Given the description of an element on the screen output the (x, y) to click on. 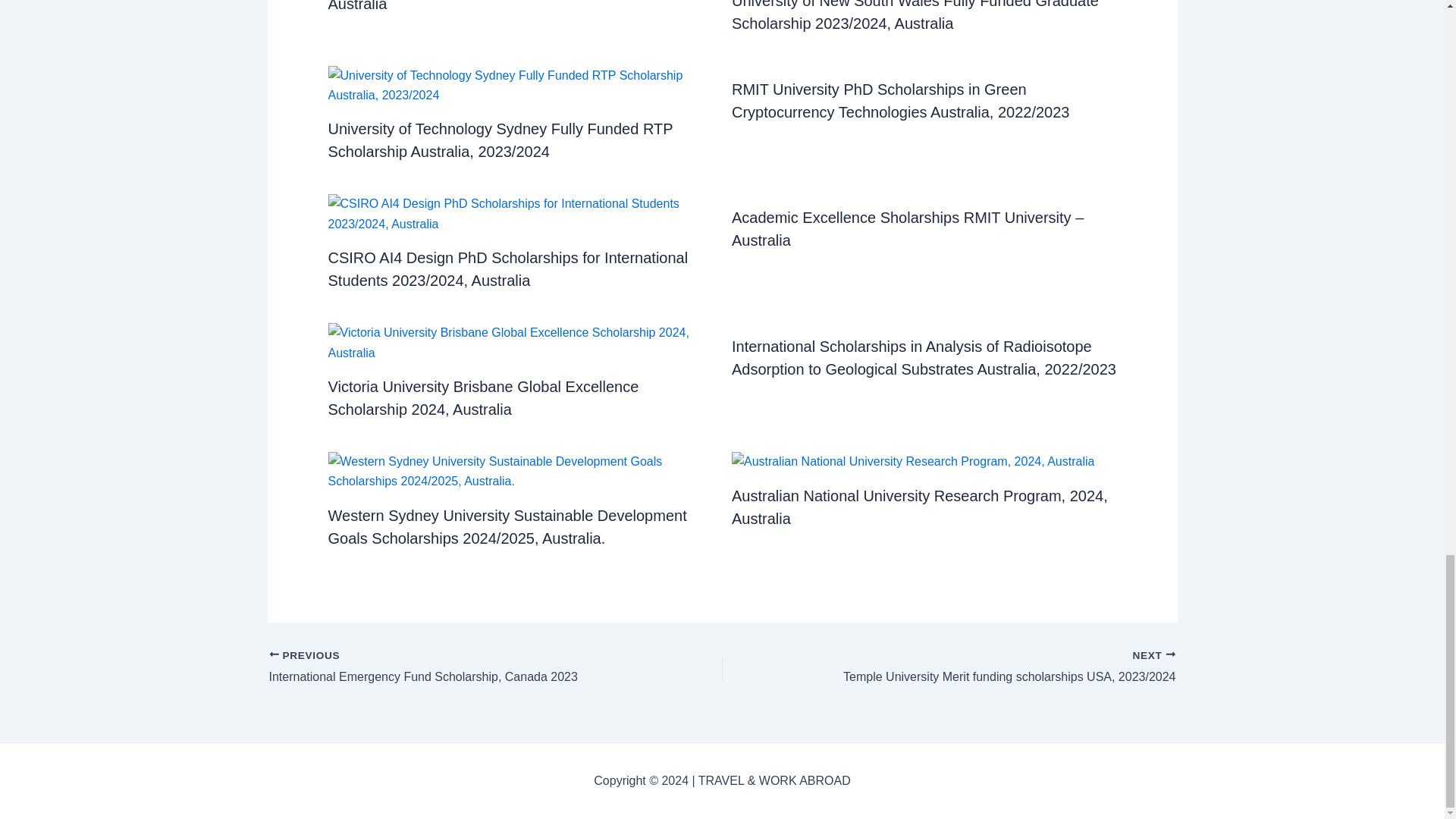
International Emergency Fund Scholarship, Canada 2023 (449, 667)
